Given the description of an element on the screen output the (x, y) to click on. 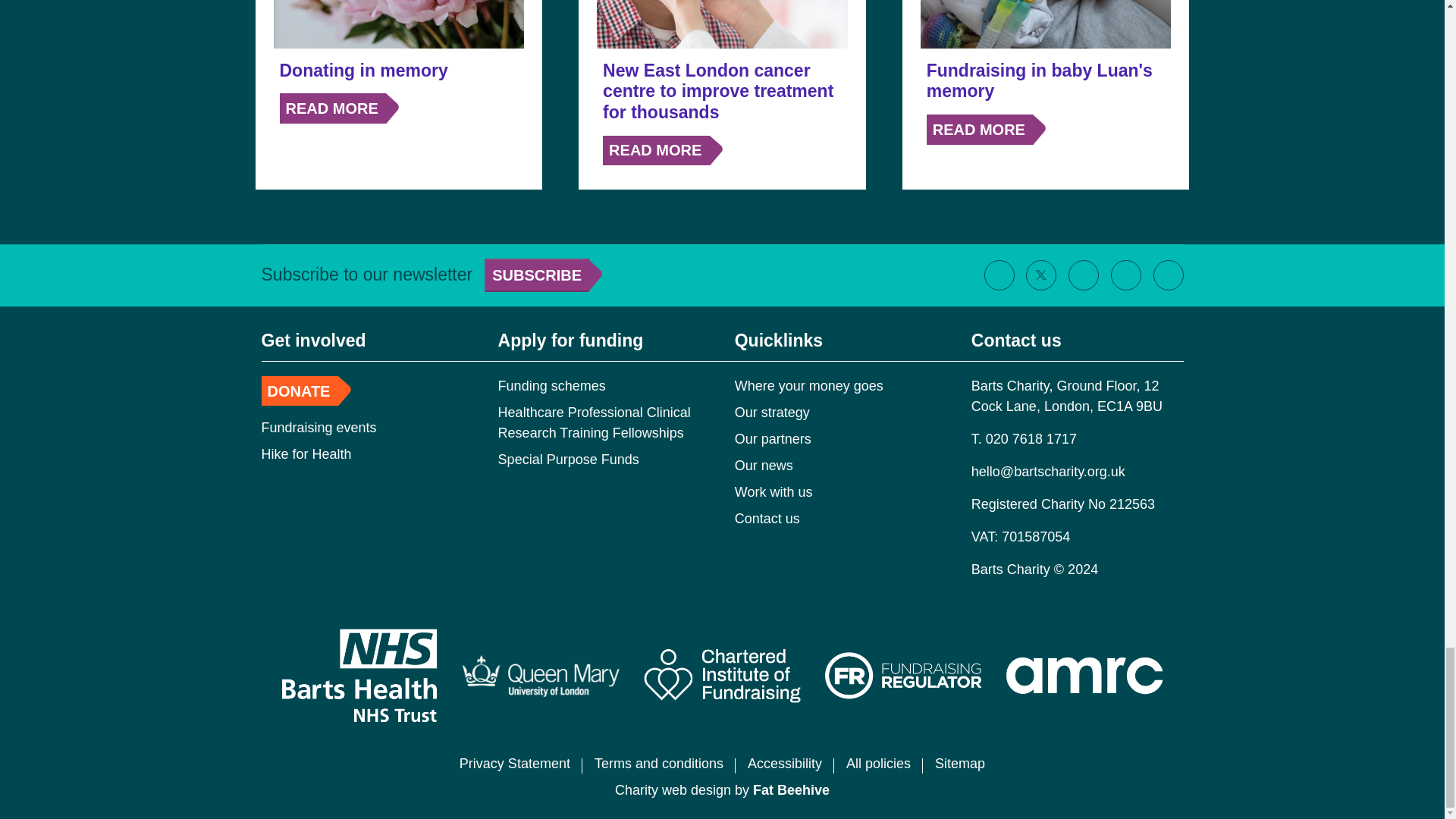
Twitter (1040, 275)
Instagram (1083, 275)
Facebook (999, 275)
Youtube (1167, 275)
Linkedin (1125, 275)
